Given the description of an element on the screen output the (x, y) to click on. 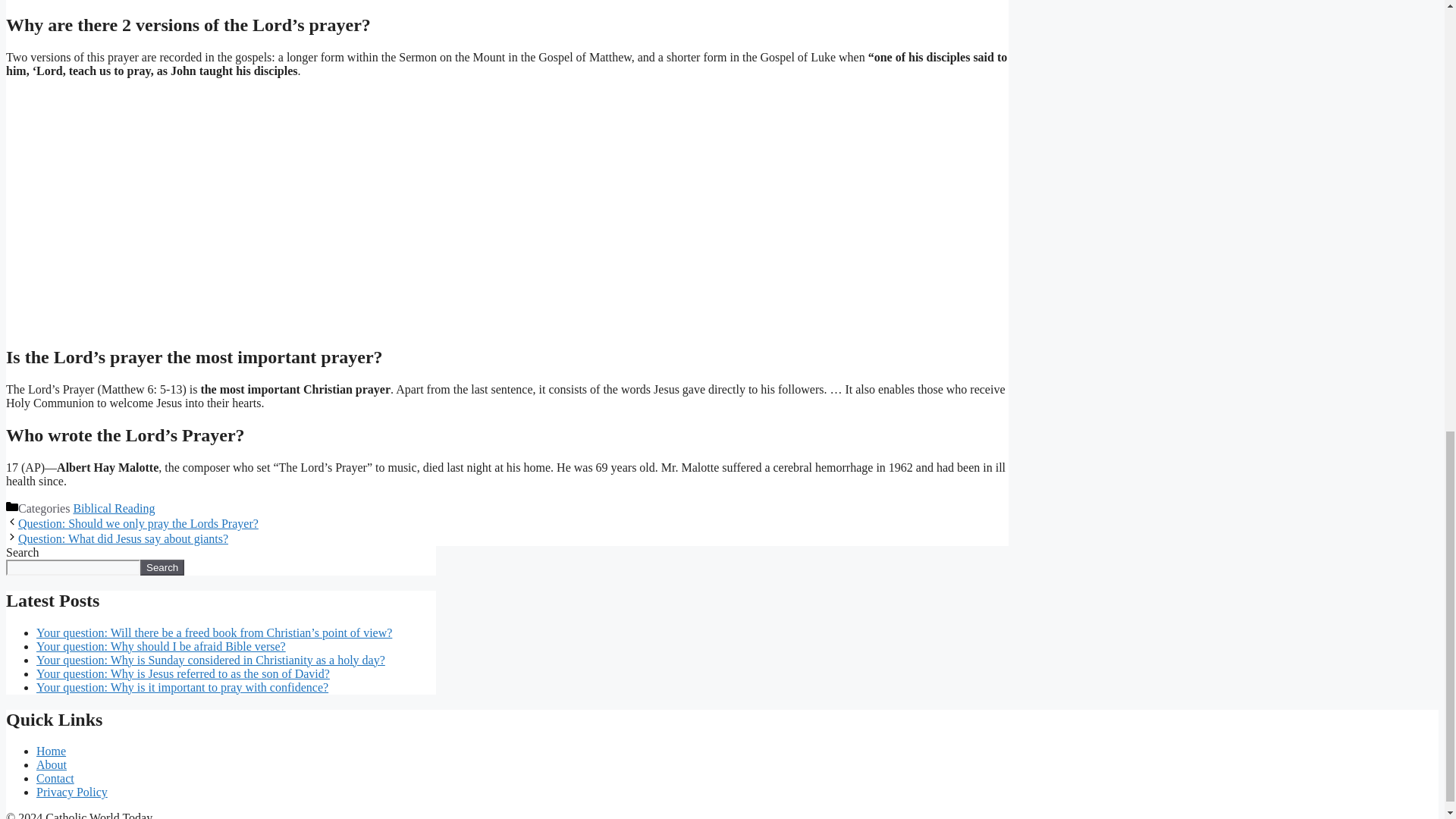
Question: Should we only pray the Lords Prayer? (138, 522)
Search (161, 567)
Home (50, 750)
Your question: Why is it important to pray with confidence? (182, 686)
Biblical Reading (113, 508)
About (51, 764)
Scroll back to top (1406, 606)
Your question: Why is Jesus referred to as the son of David? (183, 673)
Contact (55, 778)
Your question: Why should I be afraid Bible verse? (160, 645)
Privacy Policy (71, 791)
Question: What did Jesus say about giants? (122, 538)
